Given the description of an element on the screen output the (x, y) to click on. 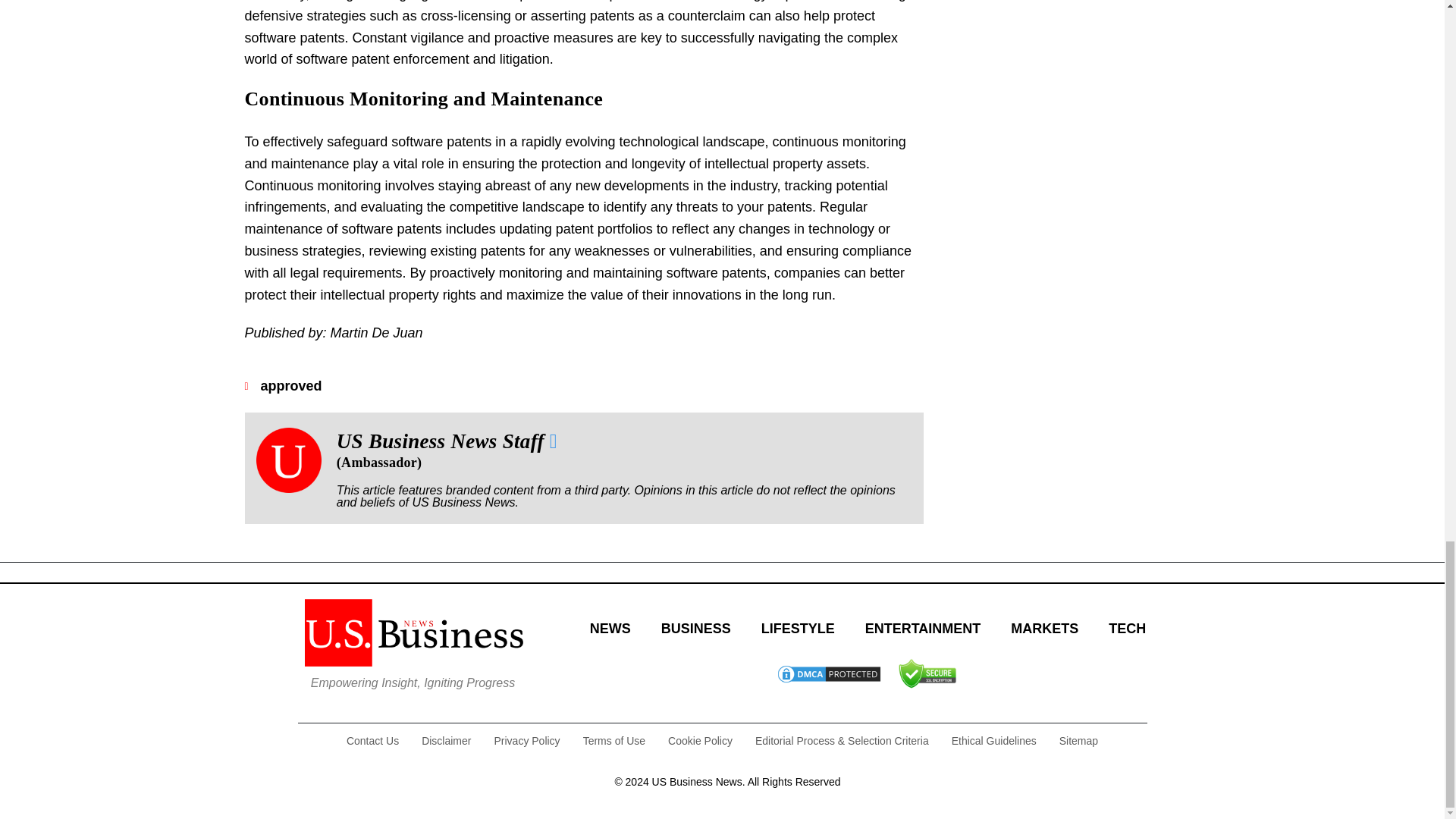
DMCA.com Protection Status (828, 679)
